Given the description of an element on the screen output the (x, y) to click on. 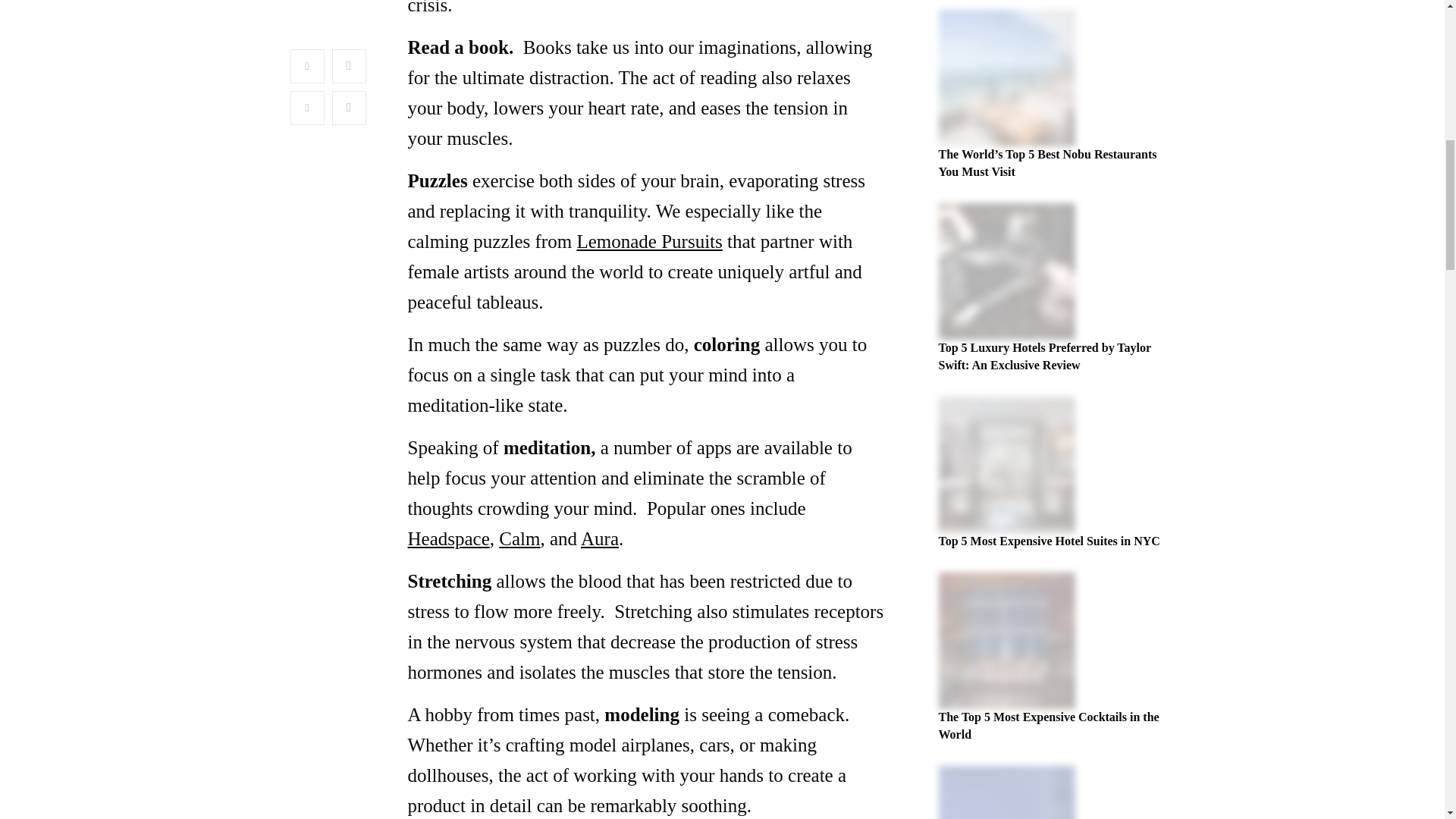
Top 5 Most Expensive Hotel Suites in NYC (1049, 540)
The Top 5 Most Expensive Cocktails in the World (1048, 725)
